Given the description of an element on the screen output the (x, y) to click on. 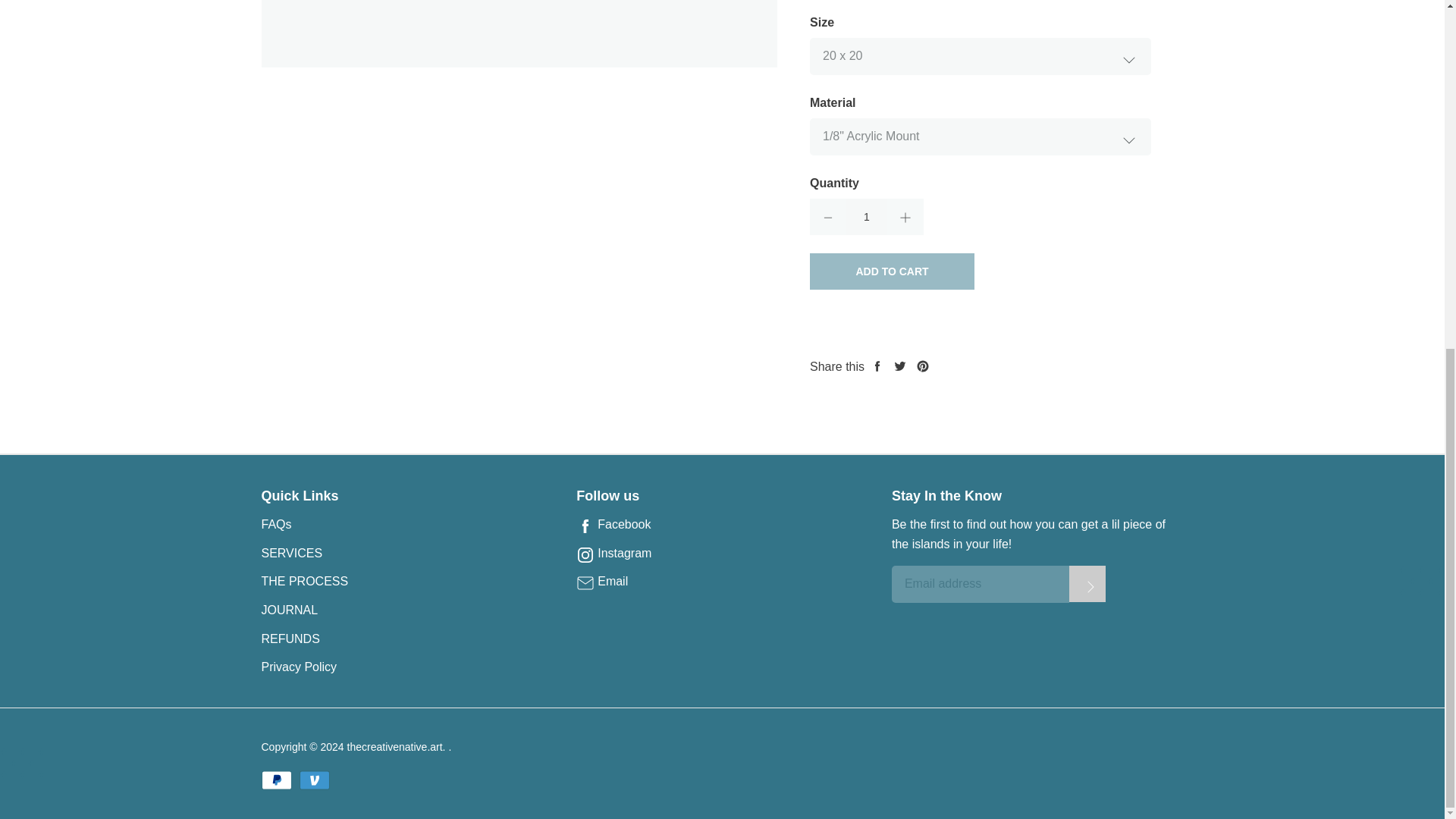
1 (865, 217)
Facebook (721, 524)
Instagram (721, 553)
Email (721, 581)
